Given the description of an element on the screen output the (x, y) to click on. 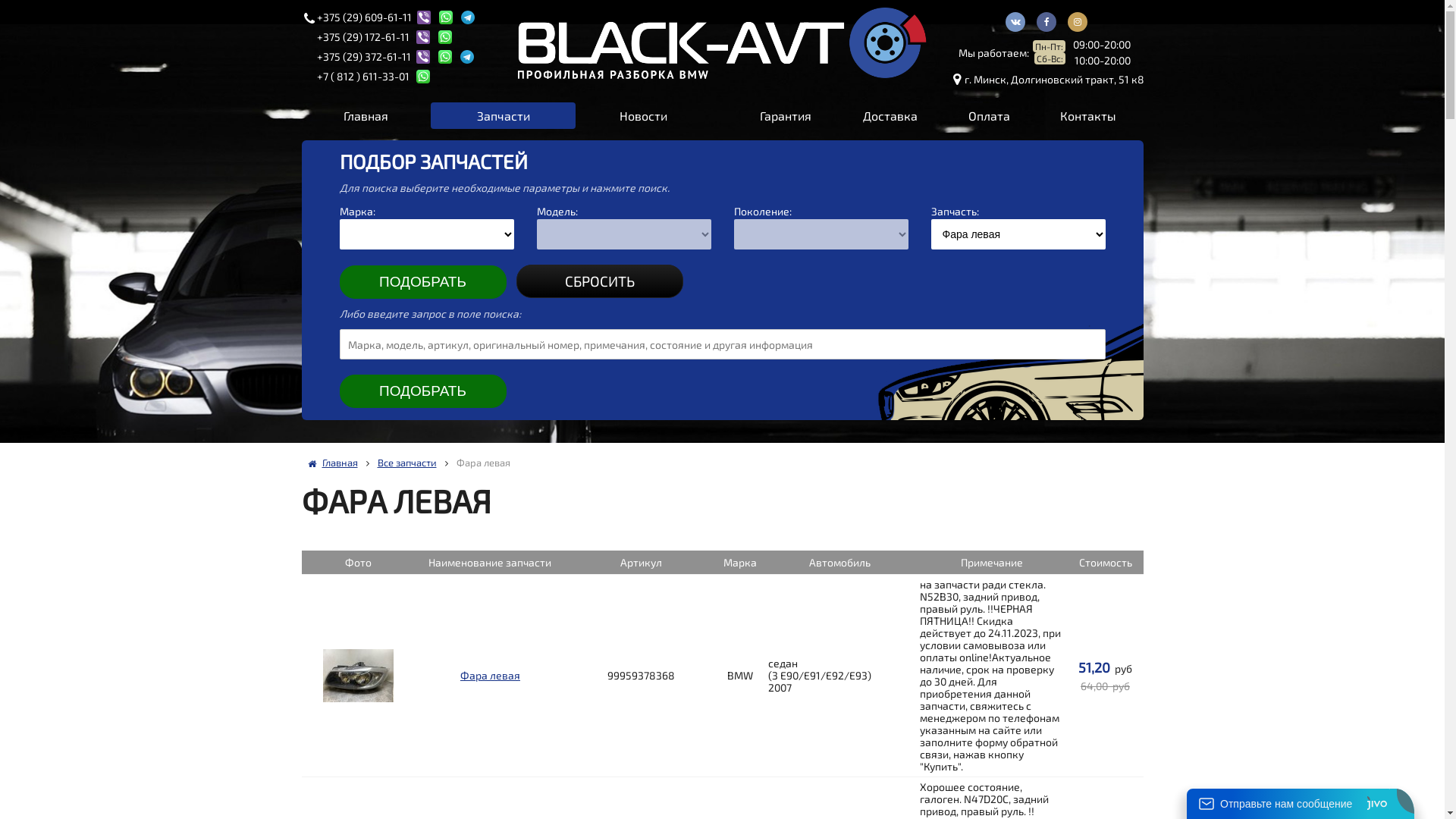
+375 (29) 609-61-11 Element type: text (363, 17)
+7 ( 812 ) 611-33-01 Element type: text (363, 76)
+375 (29) 172-61-11 Element type: text (363, 37)
+375 (29) 372-61-11 Element type: text (363, 56)
